Given the description of an element on the screen output the (x, y) to click on. 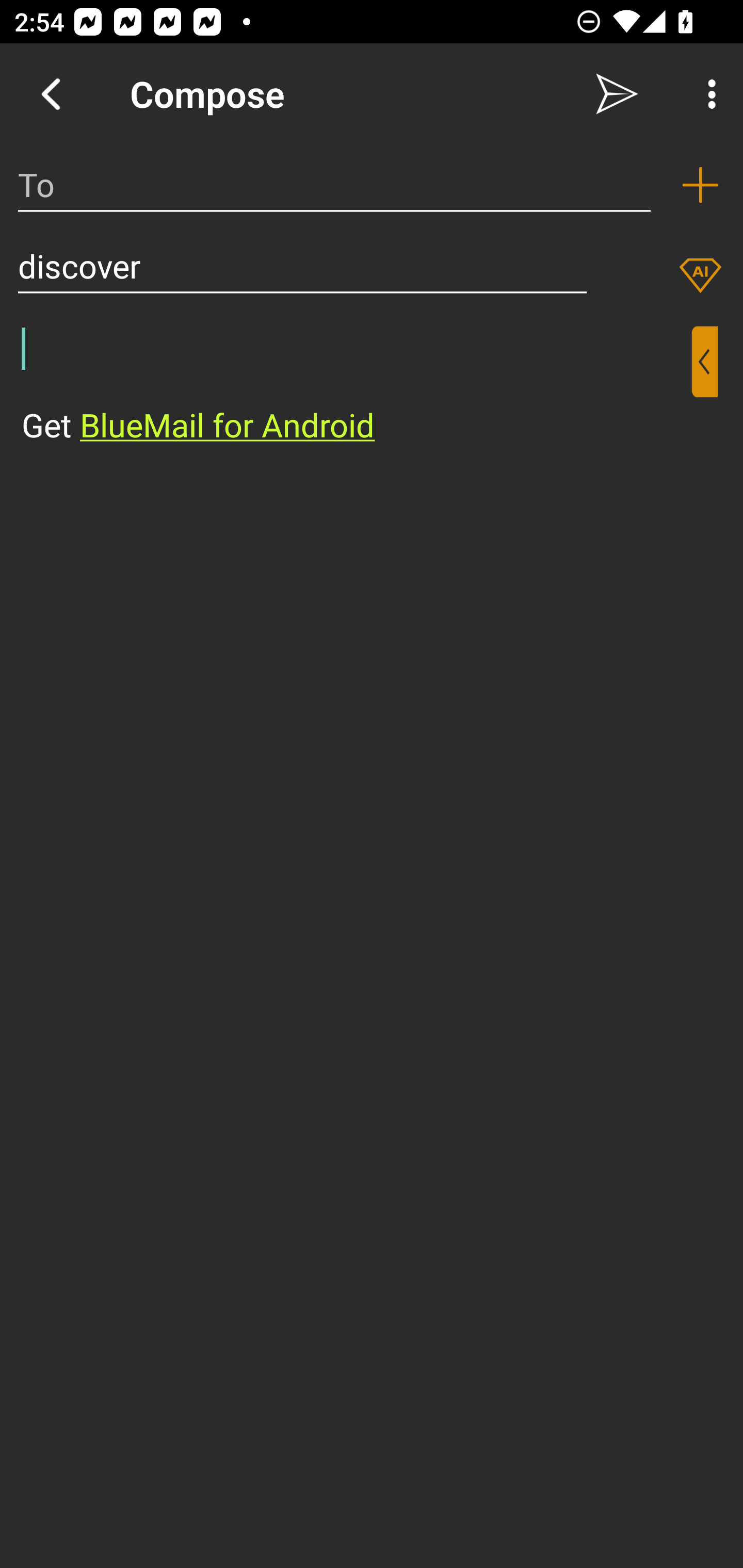
Navigate up (50, 93)
Send (616, 93)
More Options (706, 93)
To (334, 184)
Add recipient (To) (699, 184)
discover (302, 266)


⁣Get BlueMail for Android ​ (355, 386)
